Given the description of an element on the screen output the (x, y) to click on. 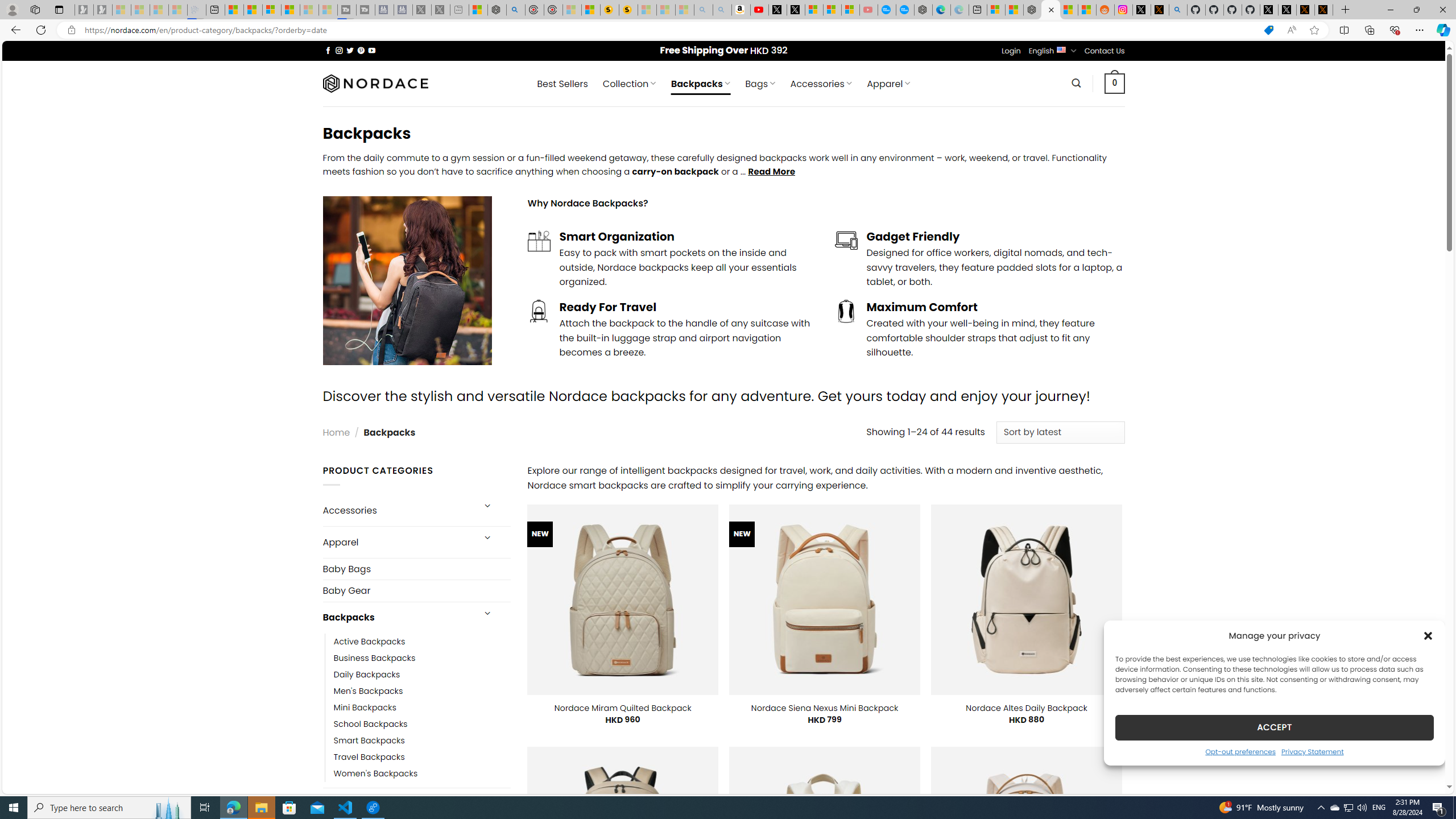
Gloom - YouTube - Sleeping (868, 9)
Travel Backpacks (368, 756)
Profile / X (1268, 9)
Class: cmplz-close (1428, 635)
Nordace Siena Nexus Mini Backpack (824, 708)
Mini Backpacks (422, 706)
Follow on YouTube (371, 49)
Business Backpacks (374, 657)
Nordace Miram Quilted Backpack (622, 708)
